Given the description of an element on the screen output the (x, y) to click on. 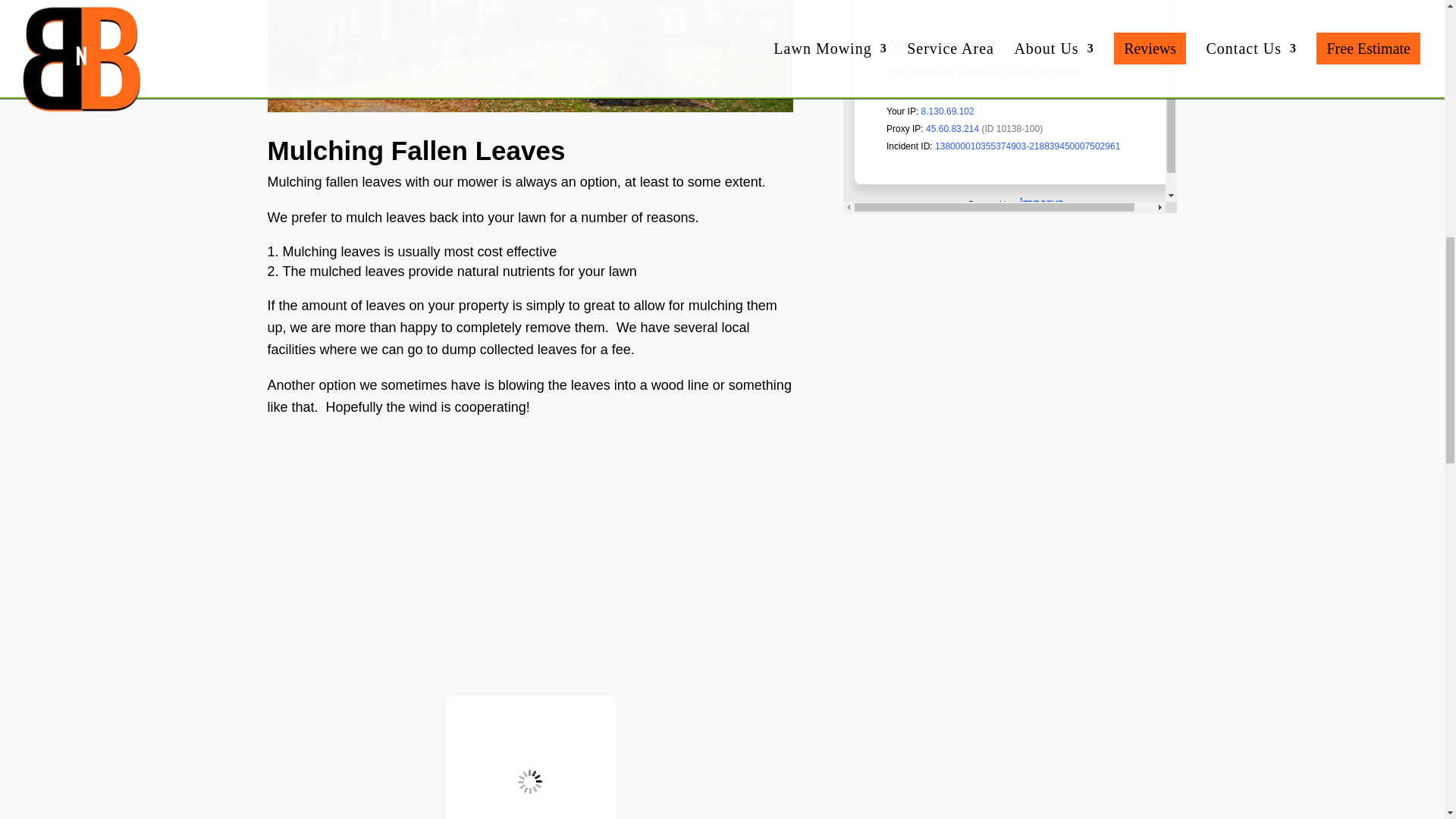
Leaf Lawn Company (529, 56)
Top Rated Lawn Mowing Company (530, 757)
